Given the description of an element on the screen output the (x, y) to click on. 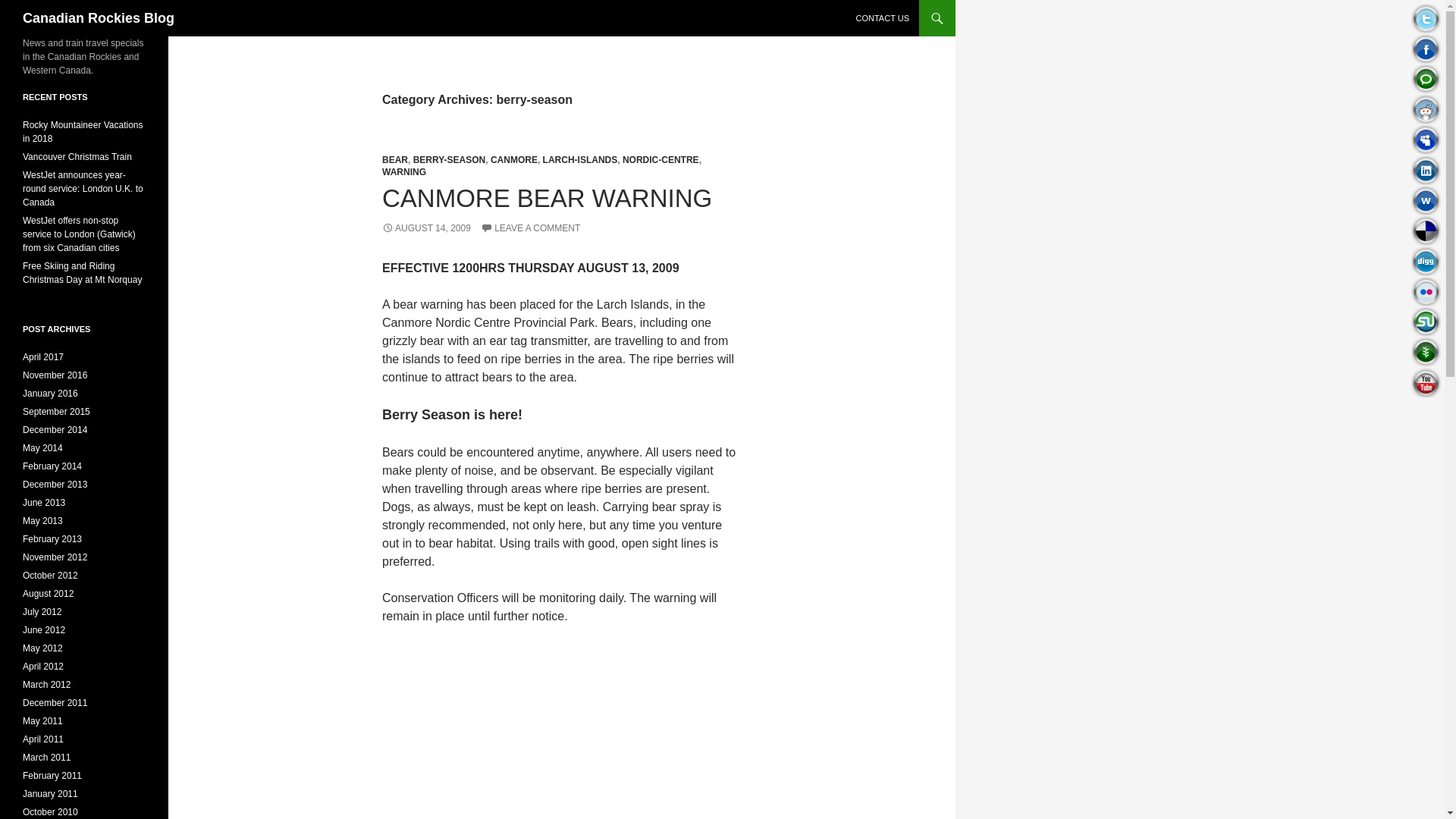
Share it on Myspace (1425, 139)
December 2014 (55, 429)
Share it on Delicious (1425, 230)
Free Skiing and Riding Christmas Day at Mt Norquay (82, 273)
Reddit (1425, 109)
Youtube (1425, 382)
Share it on Facebook (1425, 48)
AUGUST 14, 2009 (425, 227)
Stumbleupon (1425, 321)
Vancouver Christmas Train (77, 156)
September 2015 (56, 411)
NORDIC-CENTRE (660, 159)
CONTACT US (881, 18)
Rocky Mountaineer Vacations in 2018 (82, 131)
BEAR (394, 159)
